Given the description of an element on the screen output the (x, y) to click on. 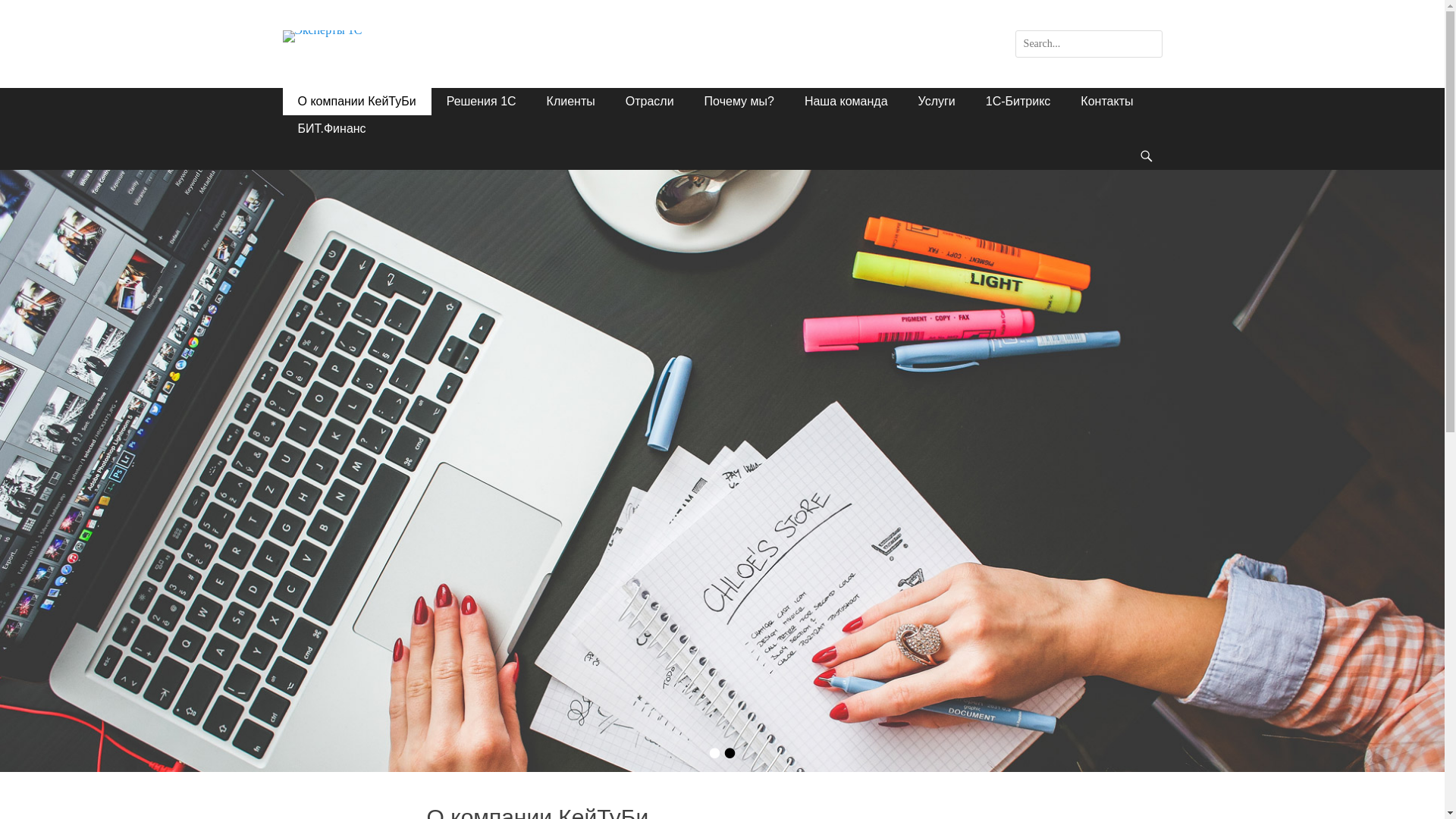
Search Element type: text (1154, 142)
Search Element type: text (22, 9)
Search for: Element type: hover (1088, 43)
